Given the description of an element on the screen output the (x, y) to click on. 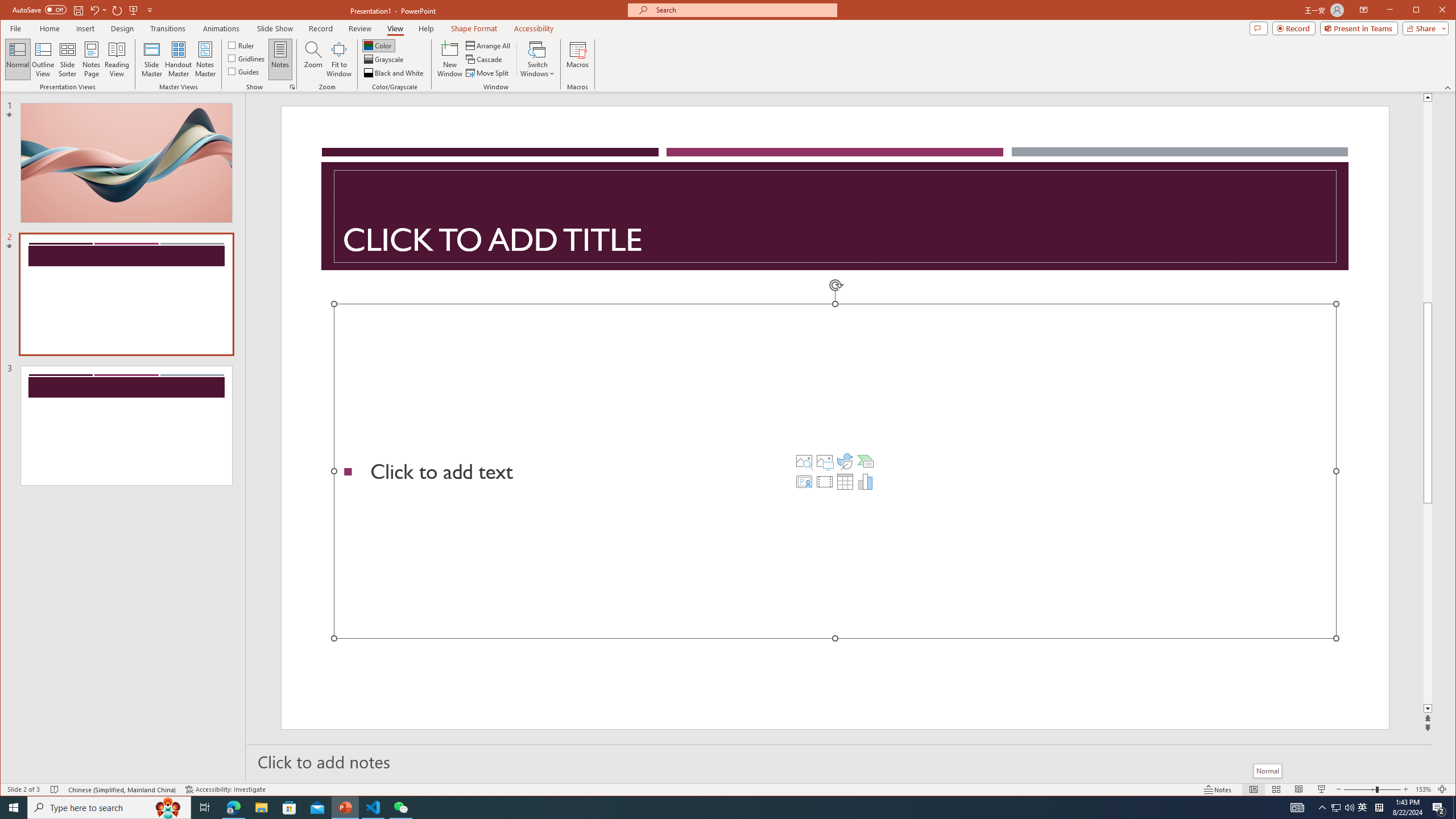
Guides (243, 70)
Notes (279, 59)
Arrange All (488, 45)
